Given the description of an element on the screen output the (x, y) to click on. 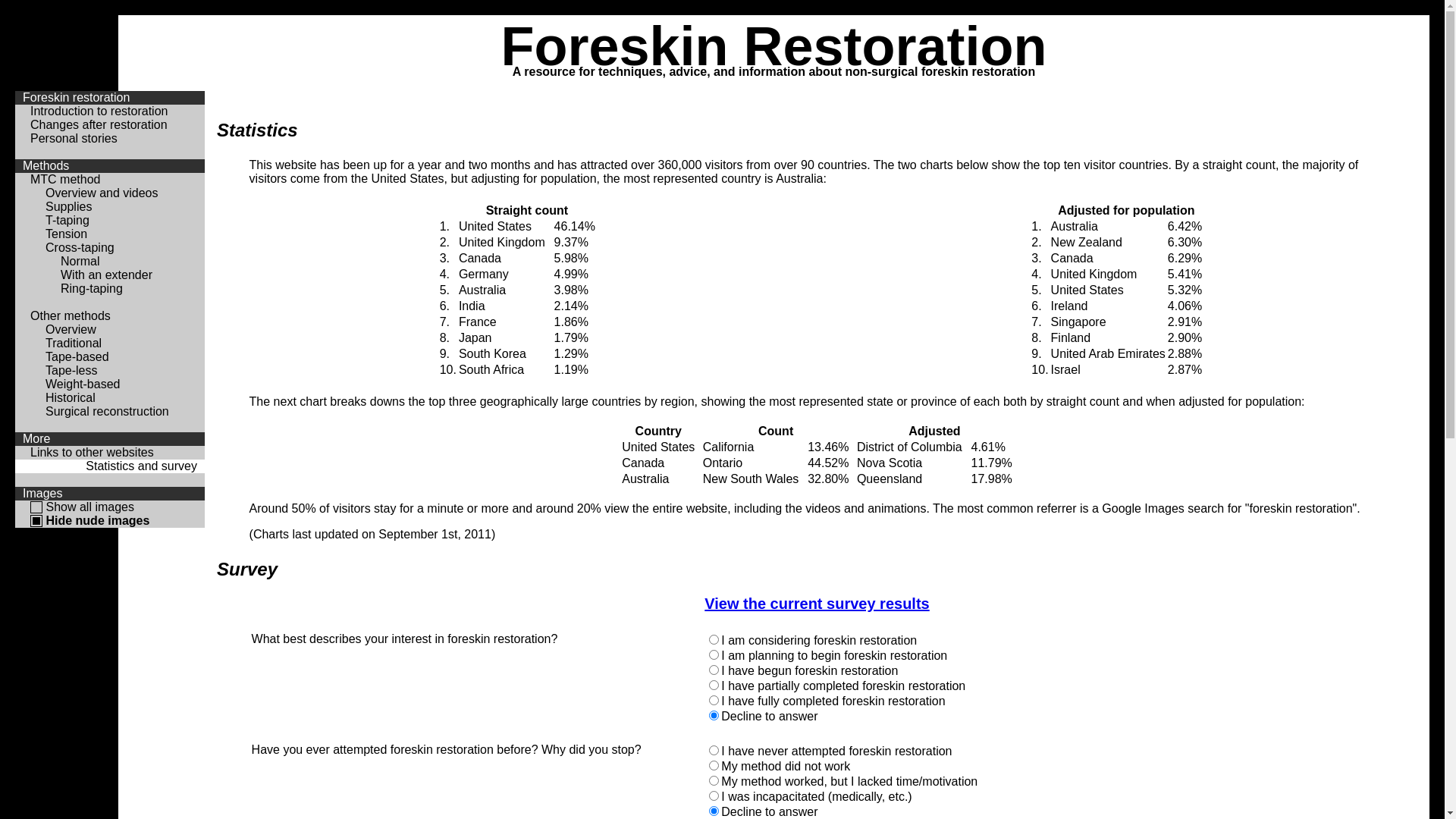
Overview Element type: text (70, 329)
Other methods Element type: text (70, 315)
Cross-taping Element type: text (79, 247)
Tape-less Element type: text (71, 370)
Statistics and survey Element type: text (141, 465)
Overview and videos Element type: text (101, 192)
With an extender Element type: text (106, 274)
Traditional Element type: text (73, 342)
Tension Element type: text (66, 233)
Show all images Element type: text (89, 506)
View the current survey results Element type: text (816, 603)
Ring-taping Element type: text (91, 288)
Survey Element type: text (816, 569)
MTC method Element type: text (65, 178)
Introduction to restoration Element type: text (98, 110)
T-taping Element type: text (67, 219)
Weight-based Element type: text (82, 383)
Supplies Element type: text (68, 206)
Changes after restoration Element type: text (98, 124)
Surgical reconstruction Element type: text (107, 410)
Personal stories Element type: text (73, 137)
Links to other websites Element type: text (91, 451)
Historical Element type: text (70, 397)
Normal Element type: text (80, 260)
Tape-based Element type: text (77, 356)
